Given the description of an element on the screen output the (x, y) to click on. 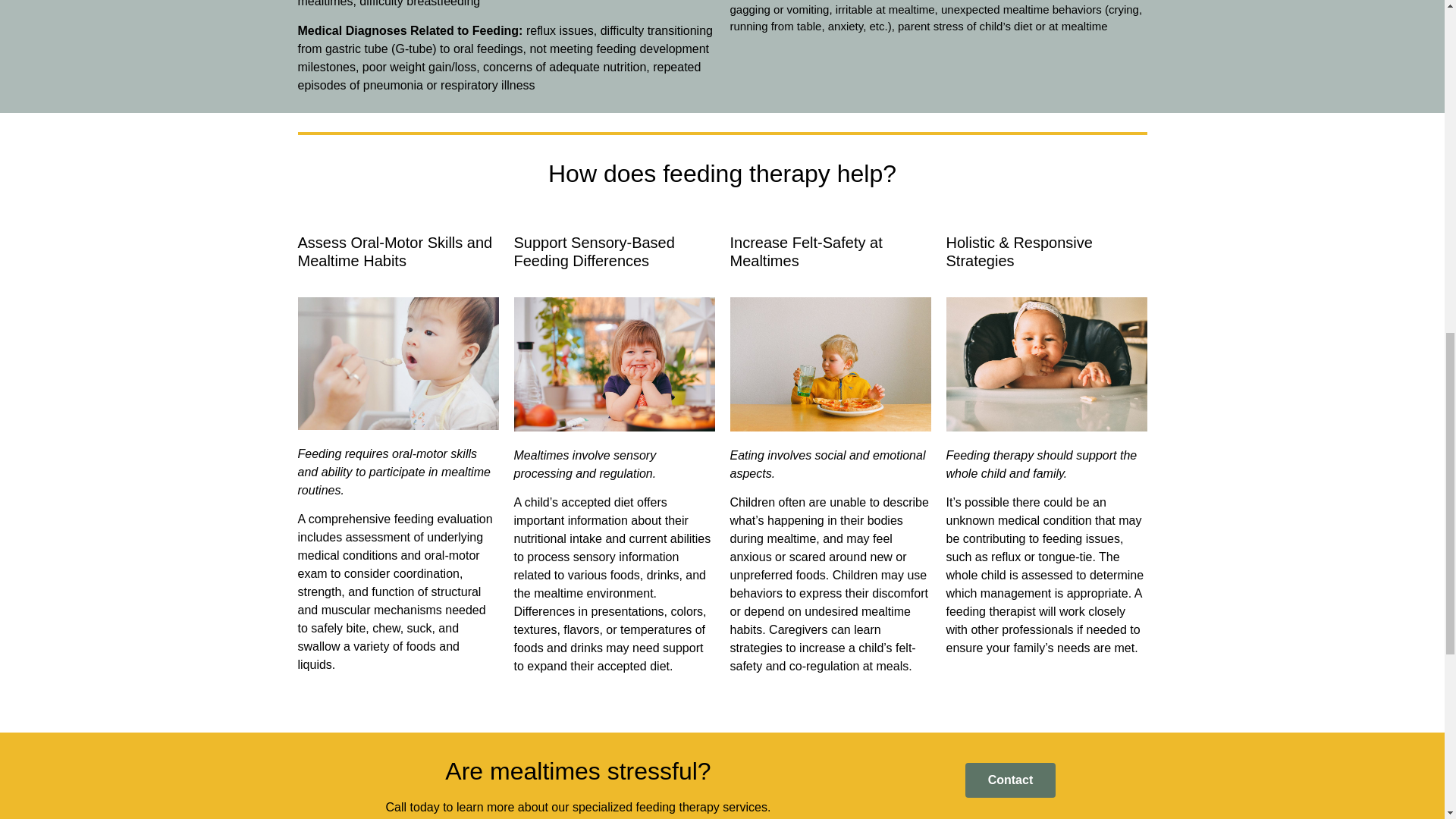
Contact (1011, 779)
puree and baby (397, 363)
